Given the description of an element on the screen output the (x, y) to click on. 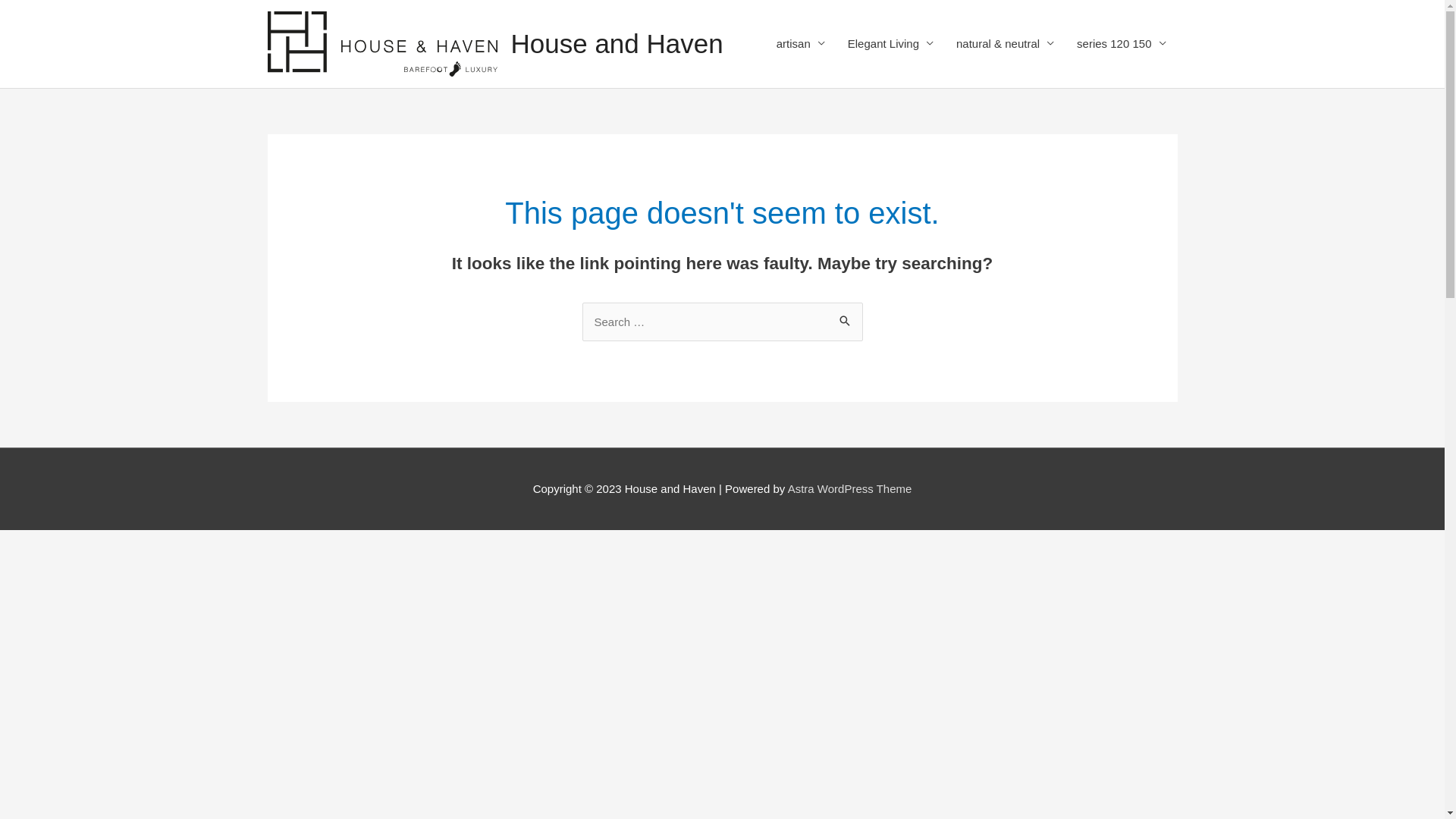
series 120 150 Element type: text (1120, 43)
natural & neutral Element type: text (1004, 43)
House and Haven Element type: text (617, 43)
Search Element type: text (845, 322)
Elegant Living Element type: text (890, 43)
artisan Element type: text (800, 43)
Astra WordPress Theme Element type: text (849, 488)
